Given the description of an element on the screen output the (x, y) to click on. 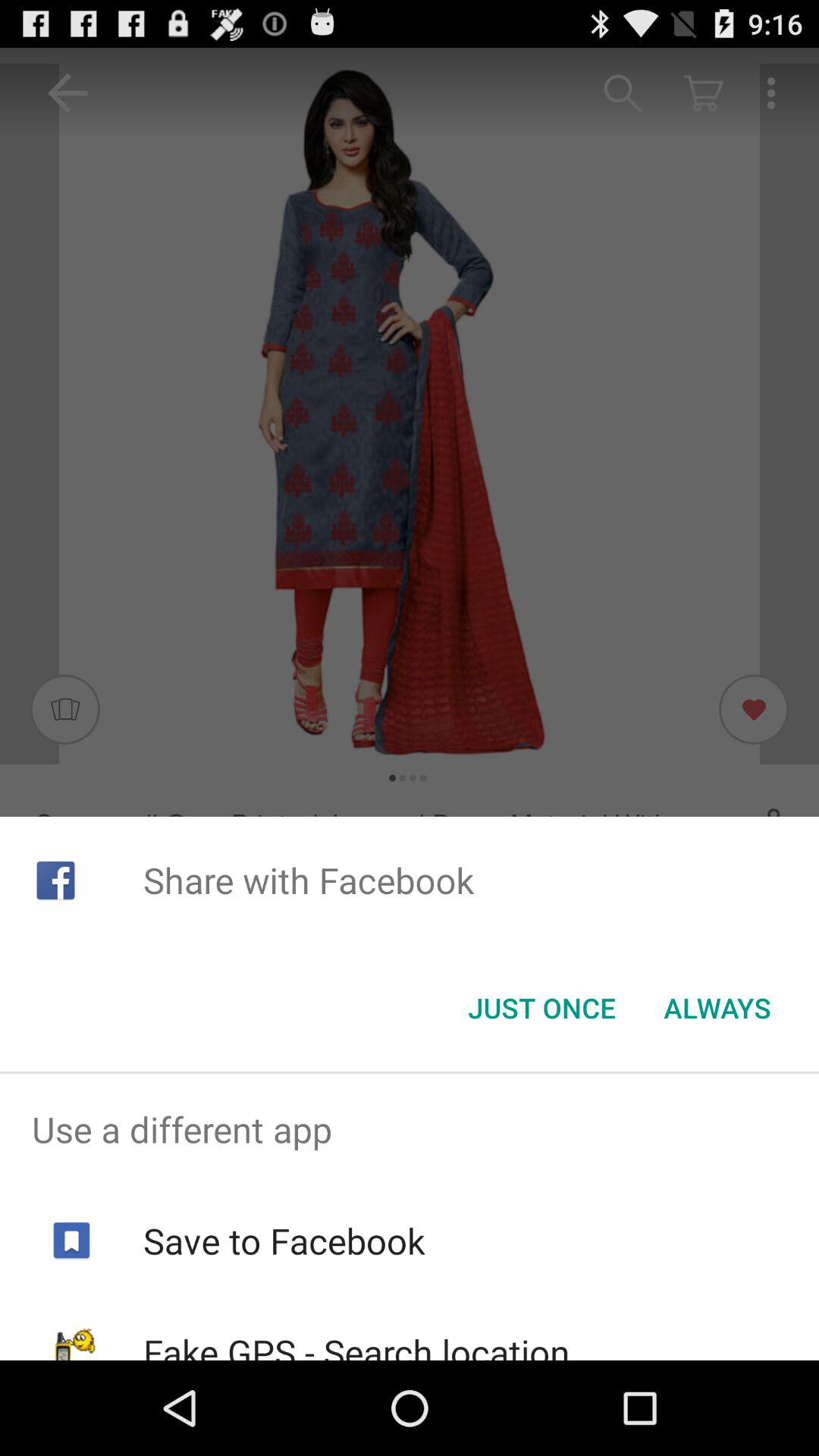
turn on the icon below share with facebook item (541, 1007)
